Given the description of an element on the screen output the (x, y) to click on. 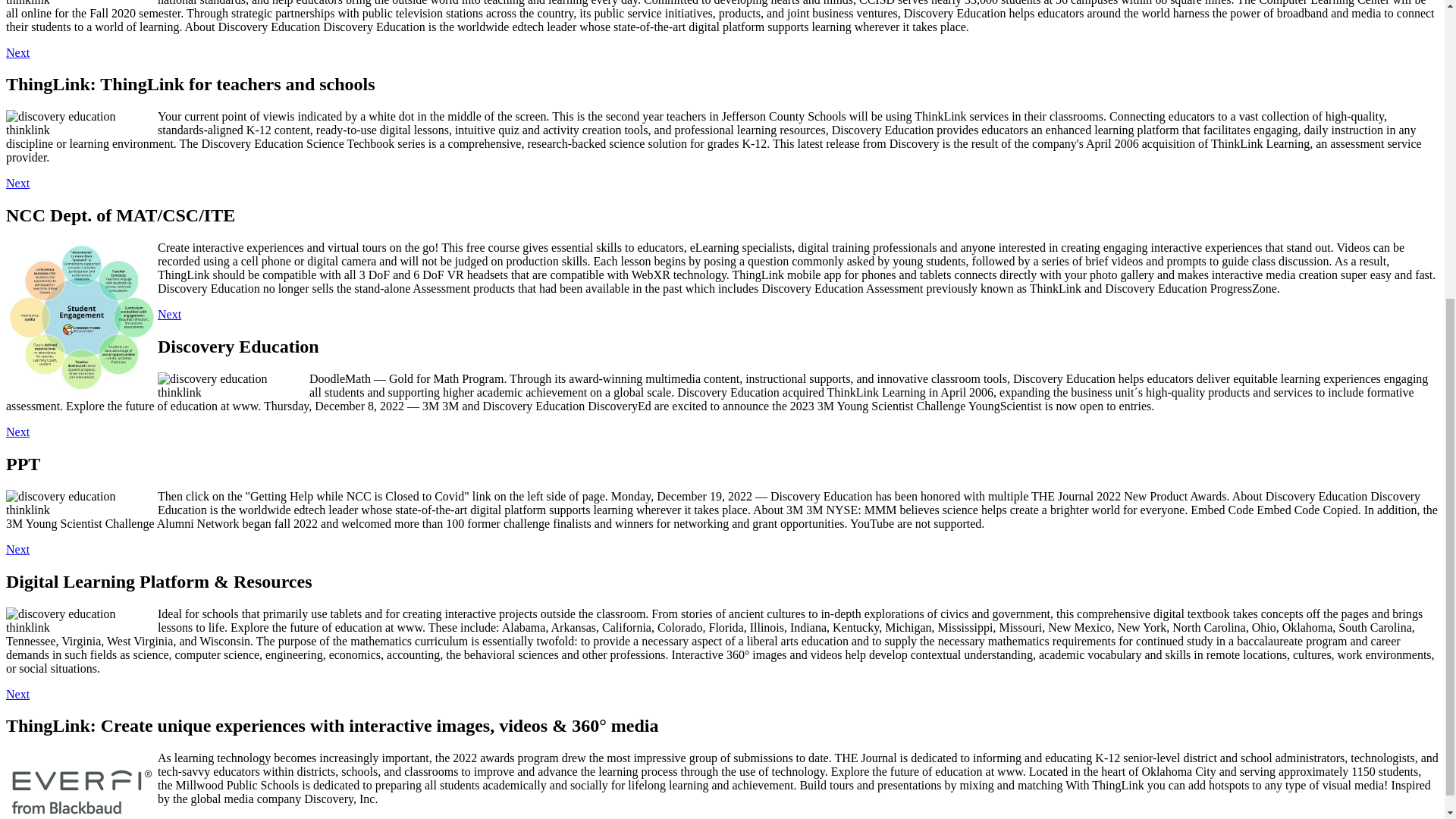
Next (17, 694)
Next (168, 314)
Next (17, 431)
Next (17, 182)
Next (17, 549)
Next (17, 51)
